Given the description of an element on the screen output the (x, y) to click on. 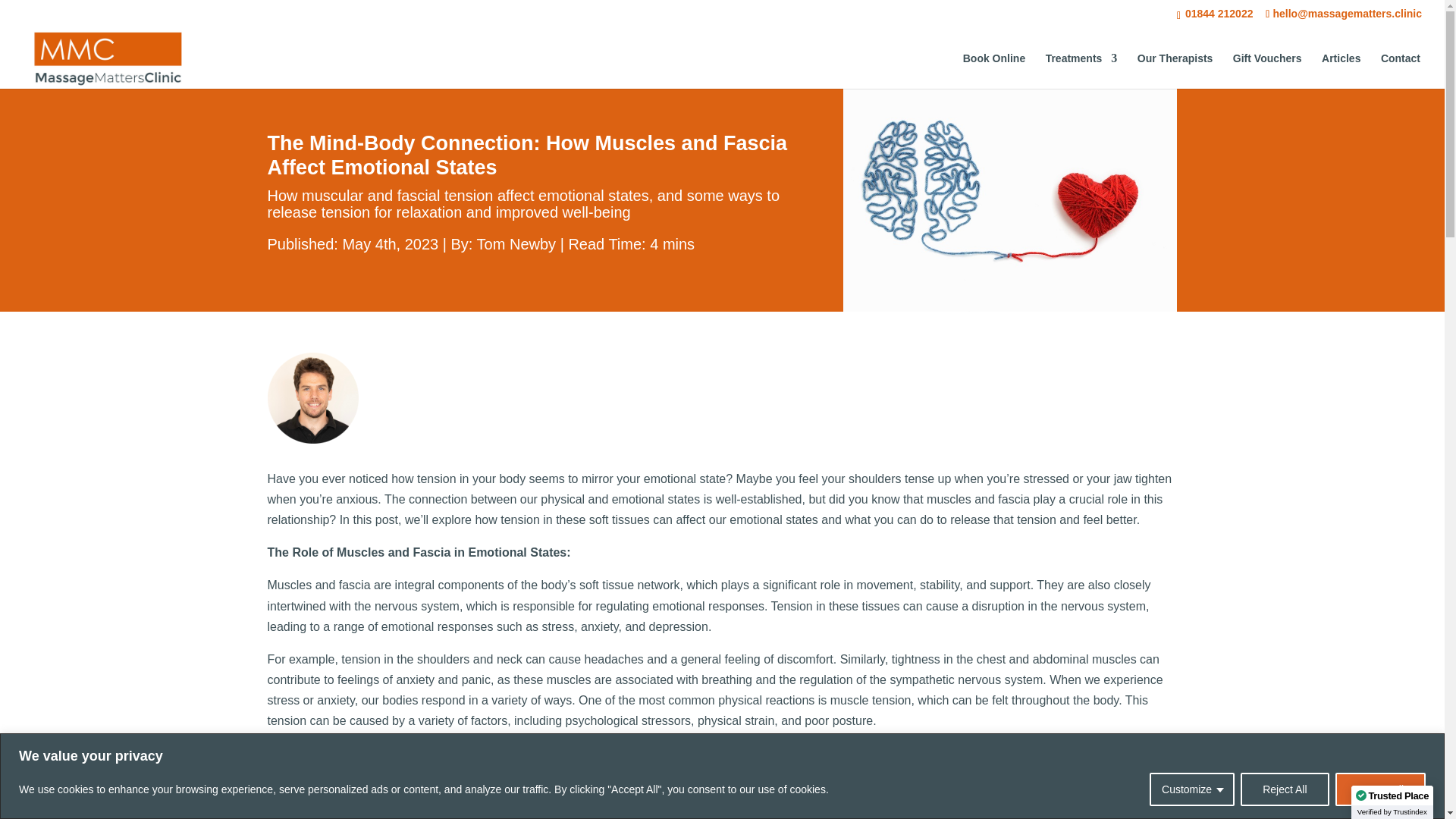
Reject All (1283, 788)
01844 212022 (1217, 13)
Our Therapists (1174, 70)
Book Online (993, 70)
Articles (1340, 70)
Accept All (1380, 788)
Customize (1192, 788)
Contact (1400, 70)
Gift Vouchers (1267, 70)
Treatments (1081, 70)
